Given the description of an element on the screen output the (x, y) to click on. 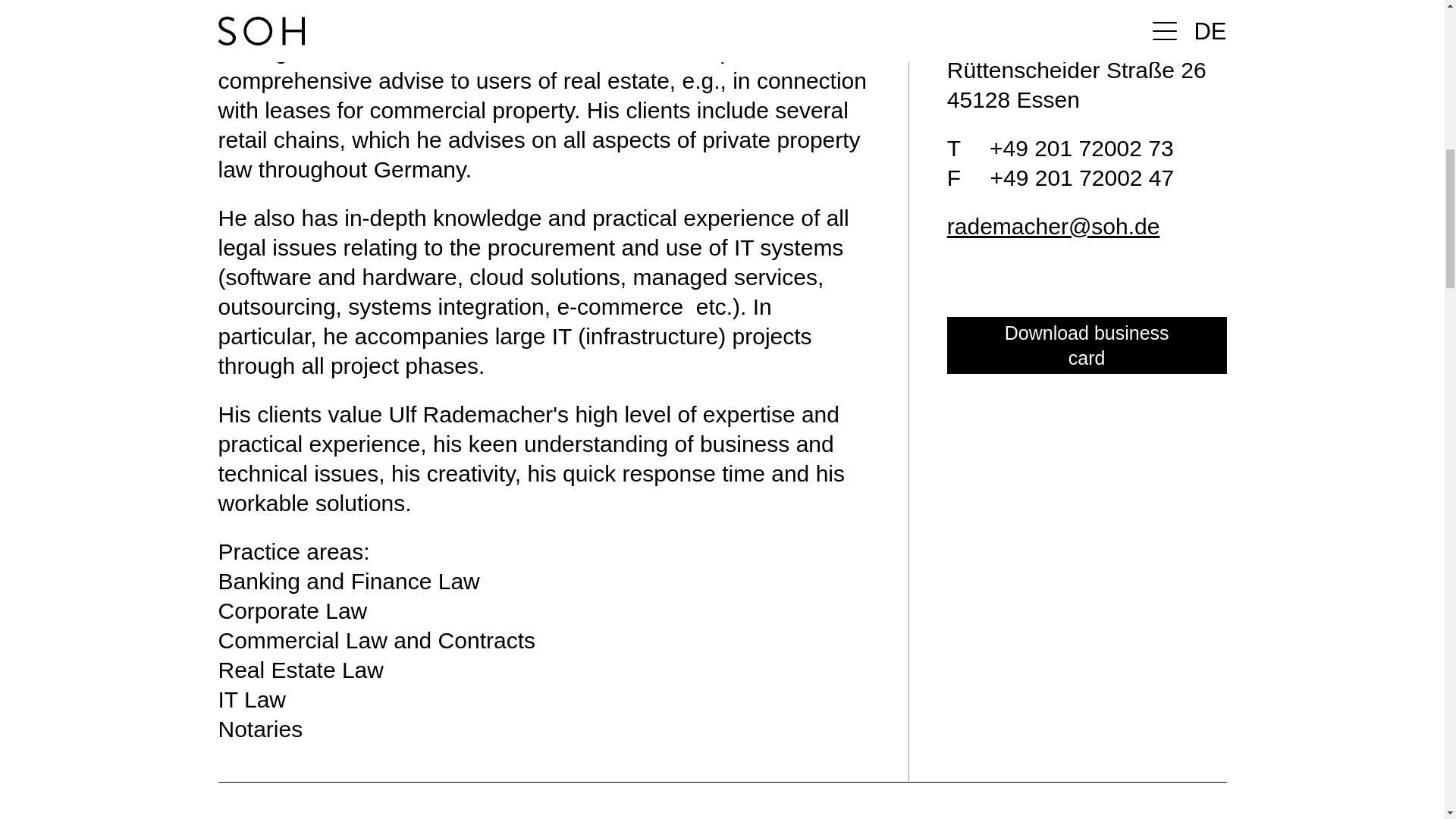
Download business card (1087, 344)
IT Law (252, 699)
Real Estate Law (301, 669)
Notaries (260, 729)
Corporate Law (293, 610)
Commercial Law and Contracts (376, 640)
Banking and Finance Law (349, 580)
